Given the description of an element on the screen output the (x, y) to click on. 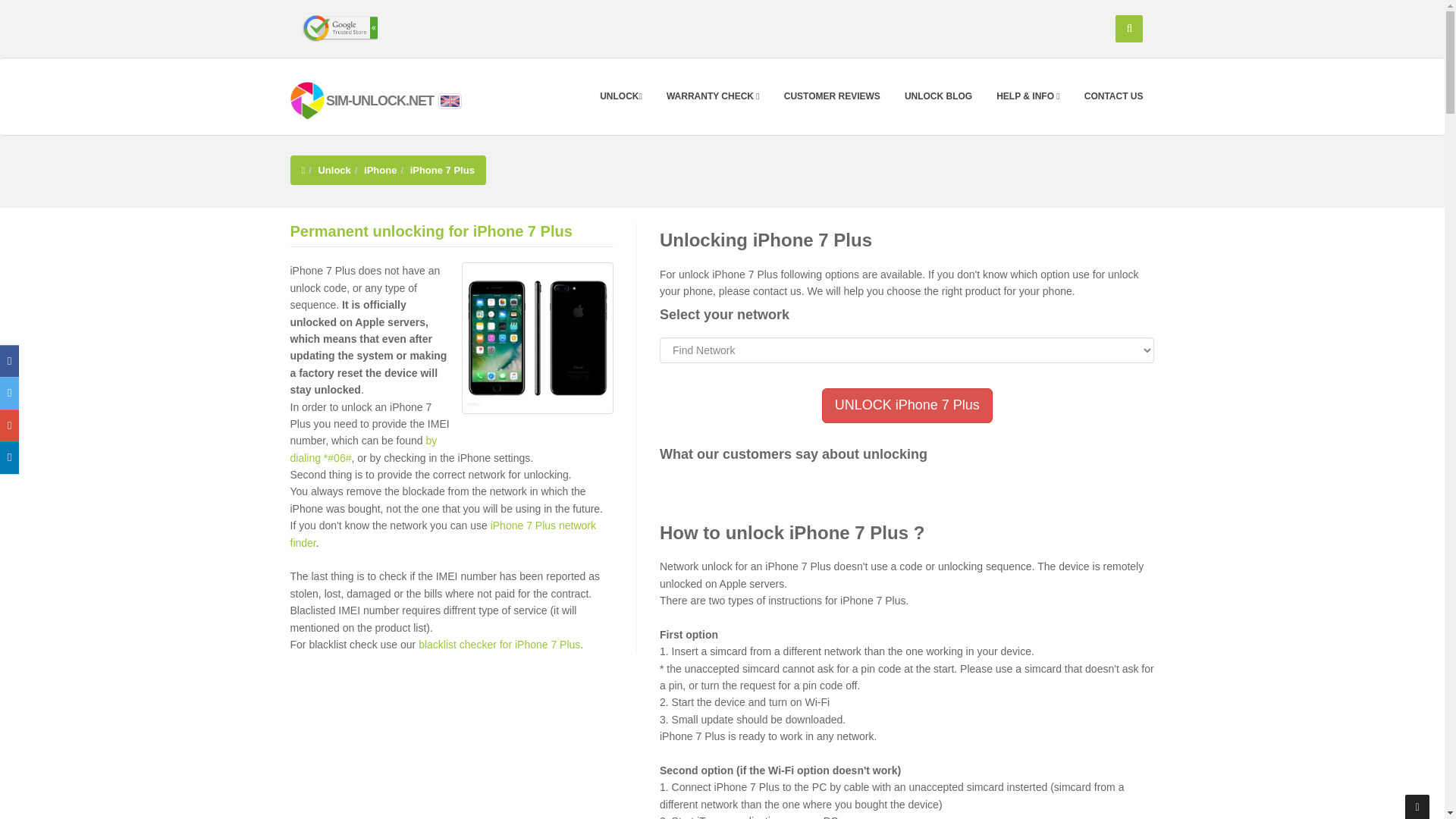
CONTACT US (1113, 96)
UNLOCK BLOG (938, 96)
Permanent unlocking for iPhone 7 Plus (430, 230)
Search (1128, 28)
WARRANTY CHECK (713, 96)
UNLOCK (620, 96)
Unlock (333, 170)
CUSTOMER REVIEWS (832, 96)
SIM-UNLOCK.NET (361, 98)
Permanent unlocking for iPhone 7 Plus (536, 338)
iPhone (380, 170)
